Given the description of an element on the screen output the (x, y) to click on. 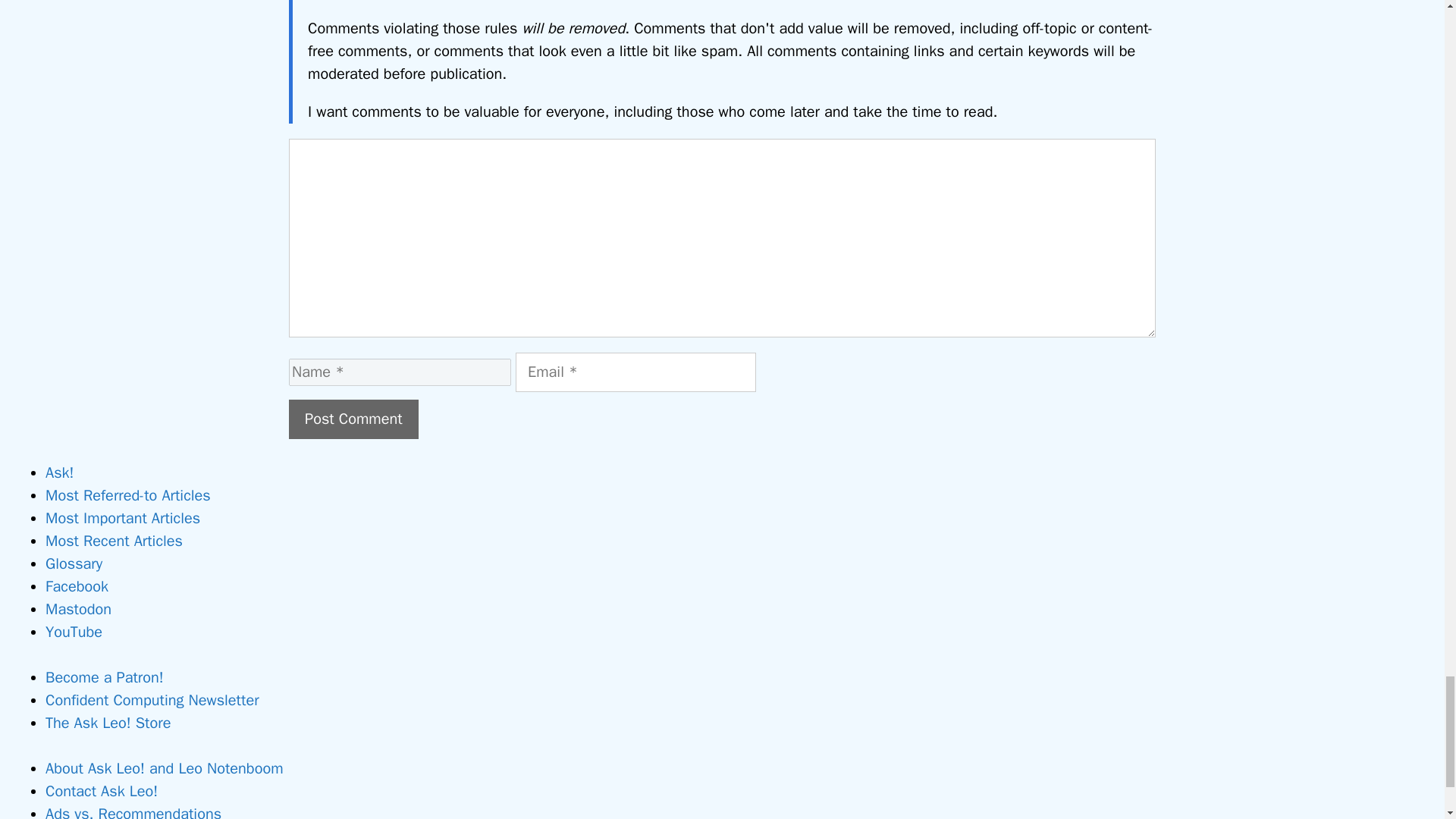
Post Comment (353, 418)
